Given the description of an element on the screen output the (x, y) to click on. 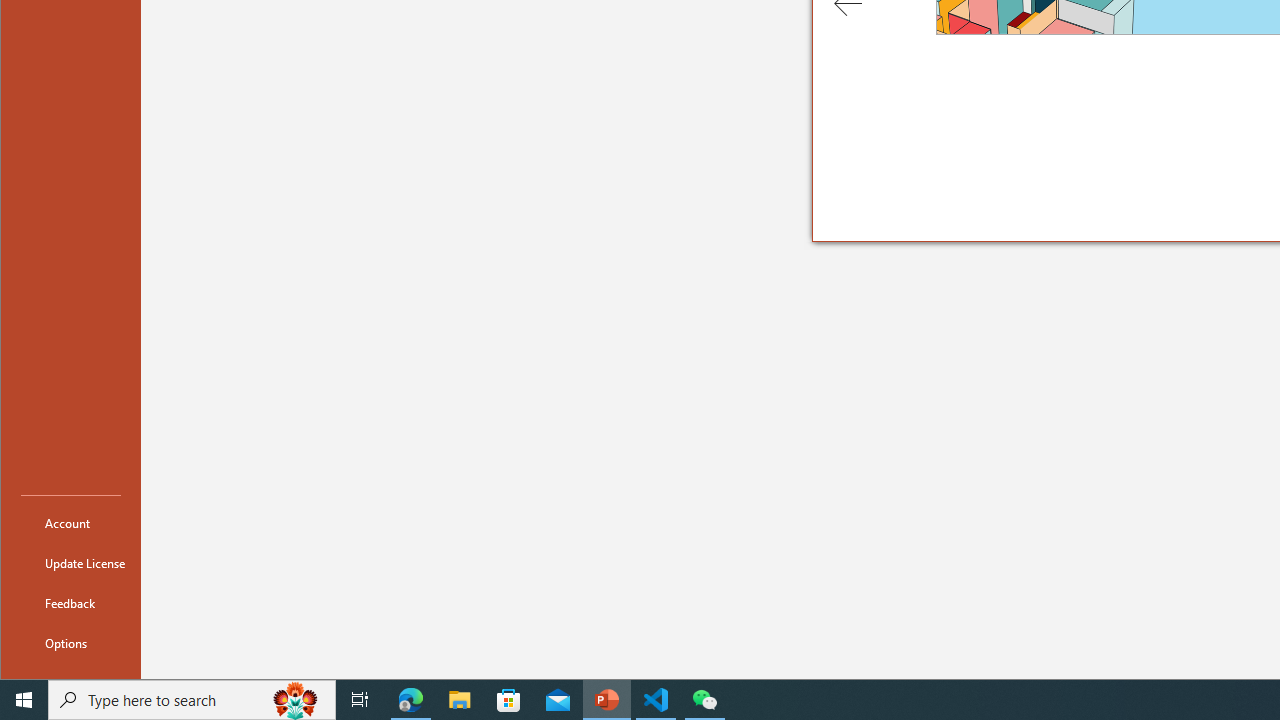
Account (70, 522)
Feedback (70, 602)
Update License (70, 562)
Options (70, 642)
